Given the description of an element on the screen output the (x, y) to click on. 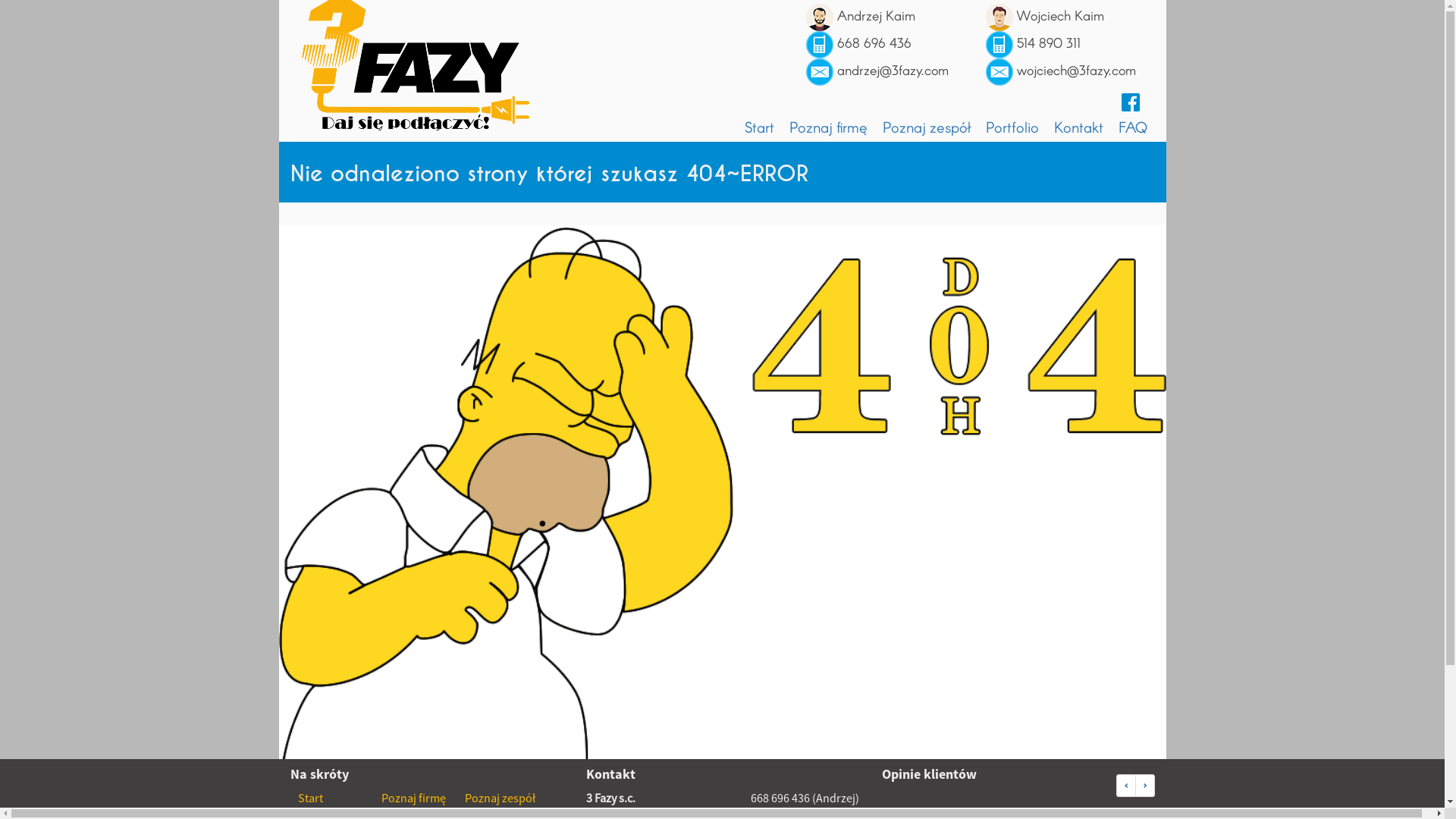
< Element type: text (1125, 785)
Portfolio Element type: text (1011, 126)
FAQ Element type: text (1131, 126)
Start Element type: text (309, 797)
= Element type: text (1144, 785)
Start Element type: text (759, 126)
Kontakt Element type: text (1078, 126)
